Given the description of an element on the screen output the (x, y) to click on. 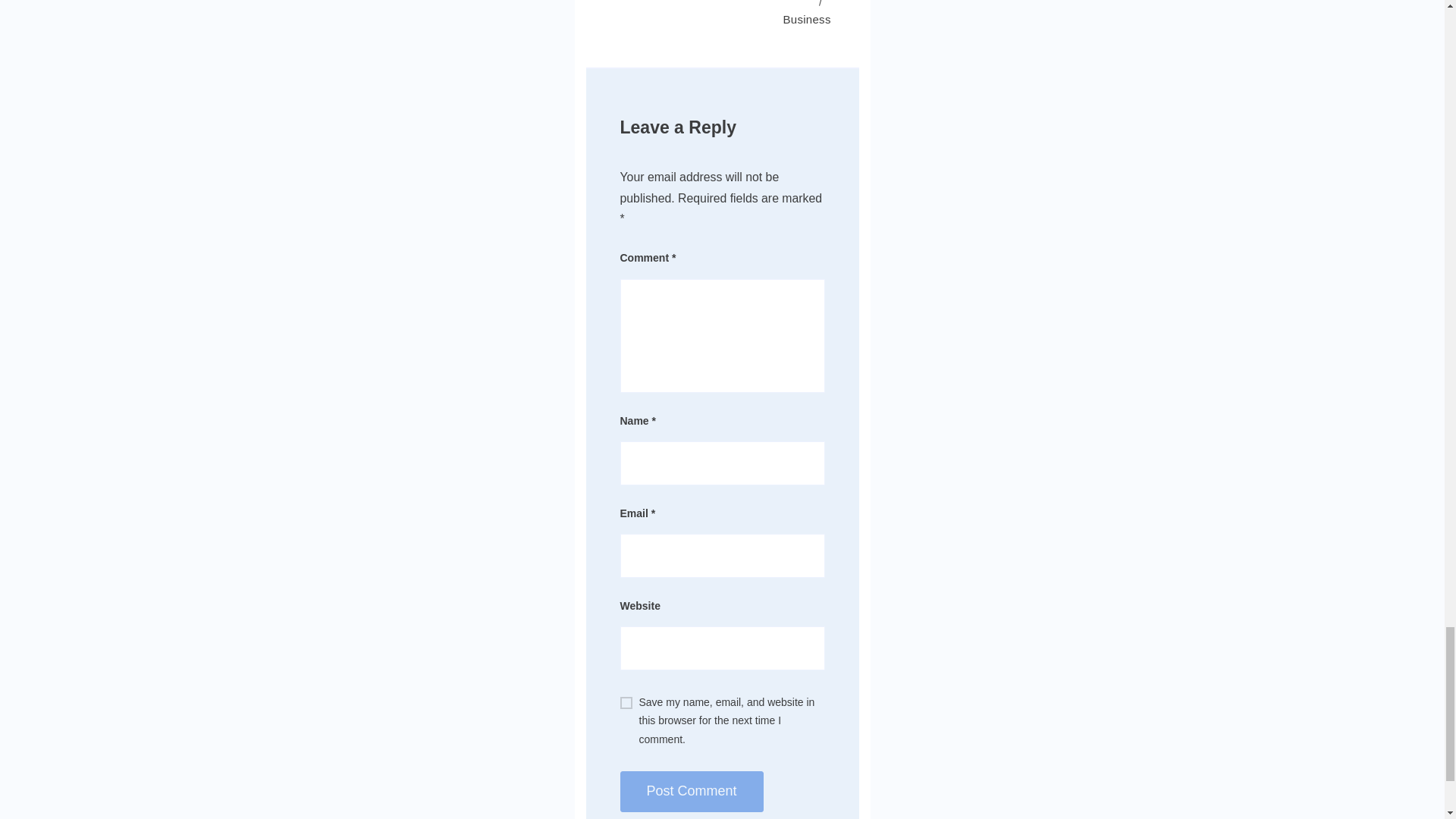
Post Comment (691, 791)
Business (806, 19)
Post Comment (691, 791)
